Given the description of an element on the screen output the (x, y) to click on. 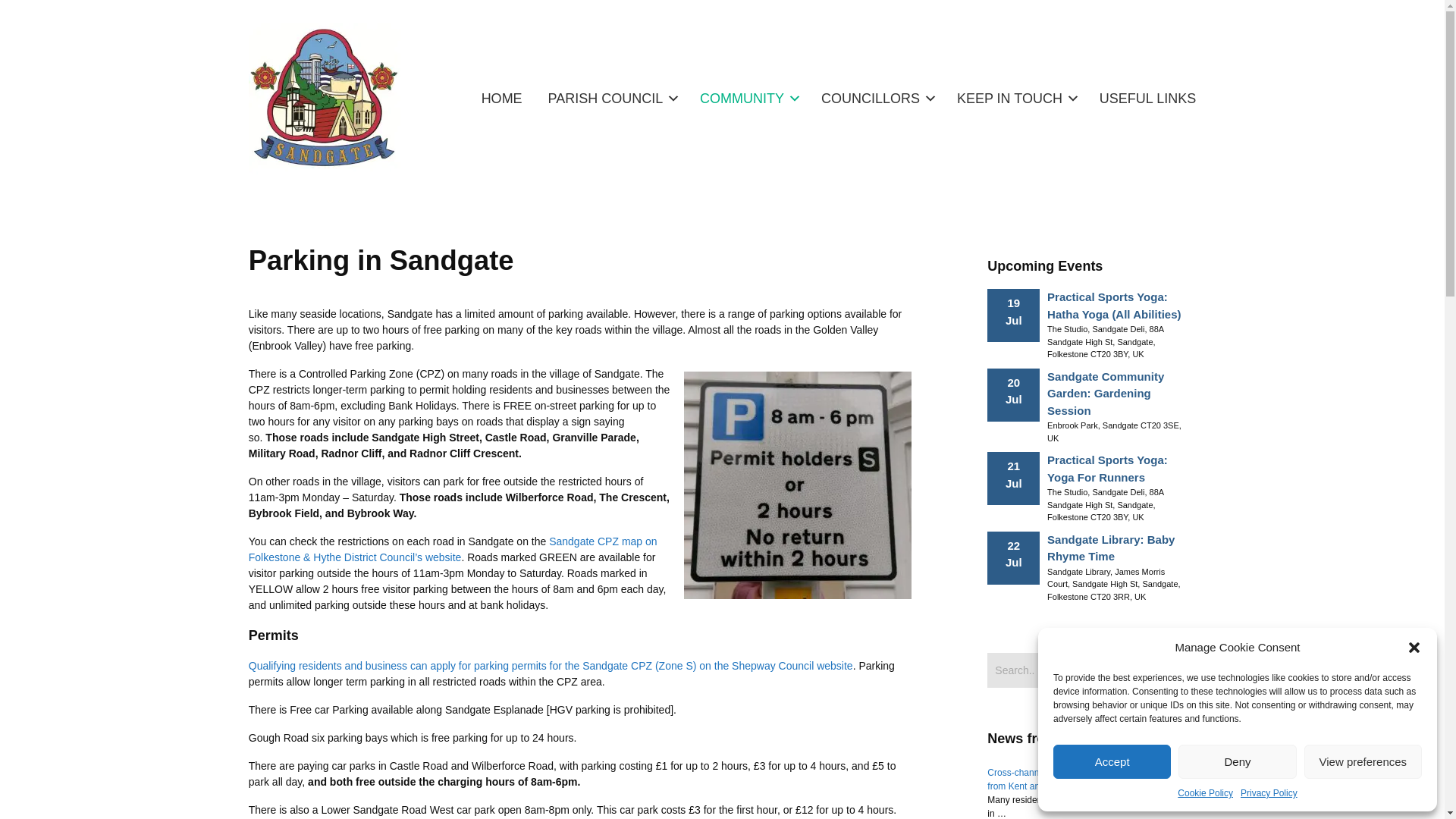
Accept (1111, 761)
Cookie Policy (1205, 793)
Privacy Policy (1268, 793)
Deny (1236, 761)
View preferences (1363, 761)
